Given the description of an element on the screen output the (x, y) to click on. 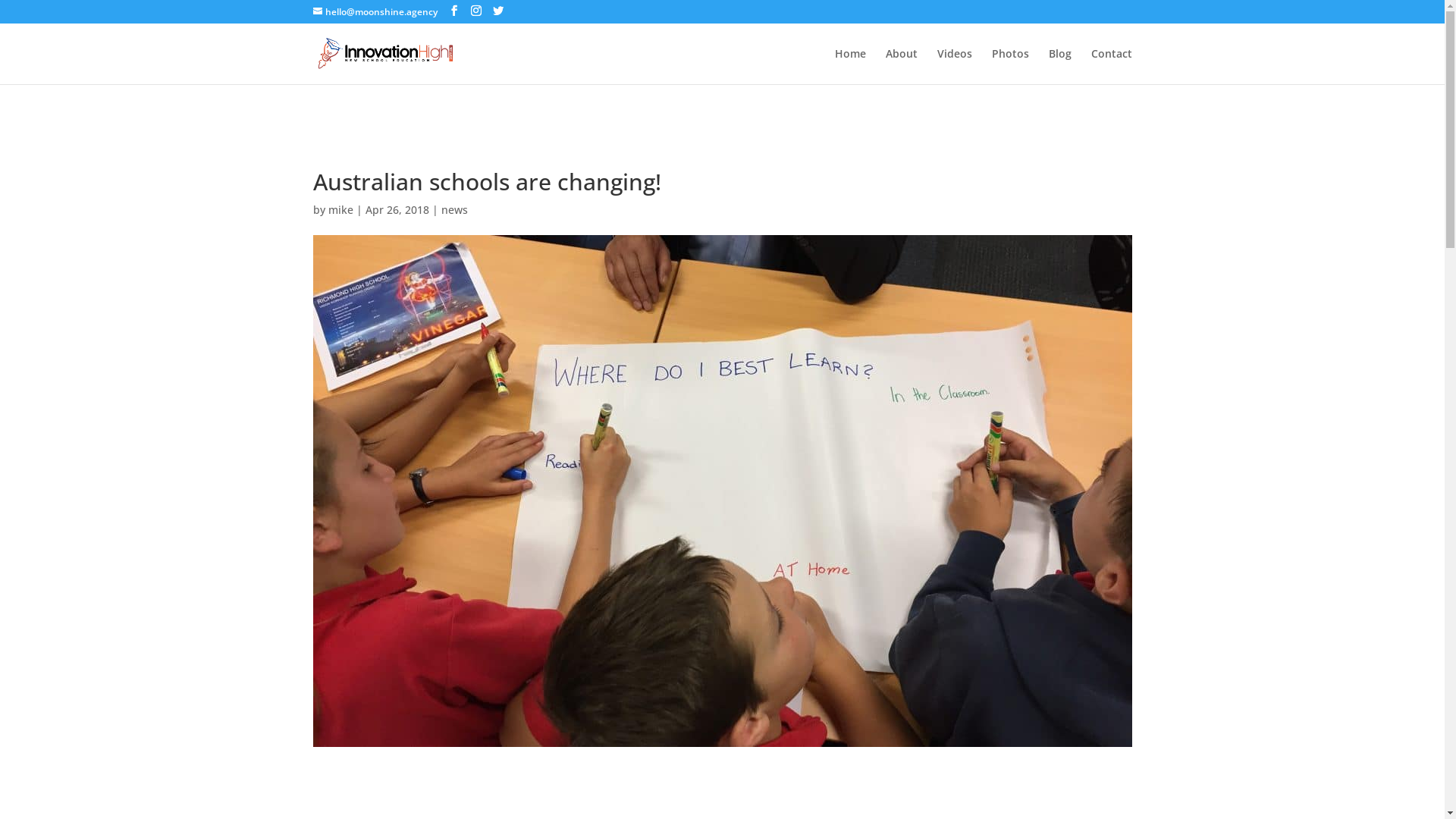
news Element type: text (454, 209)
Contact Element type: text (1110, 66)
Blog Element type: text (1059, 66)
About Element type: text (901, 66)
Videos Element type: text (954, 66)
hello@moonshine.agency Element type: text (374, 11)
mike Element type: text (339, 209)
Home Element type: text (849, 66)
Photos Element type: text (1010, 66)
